Given the description of an element on the screen output the (x, y) to click on. 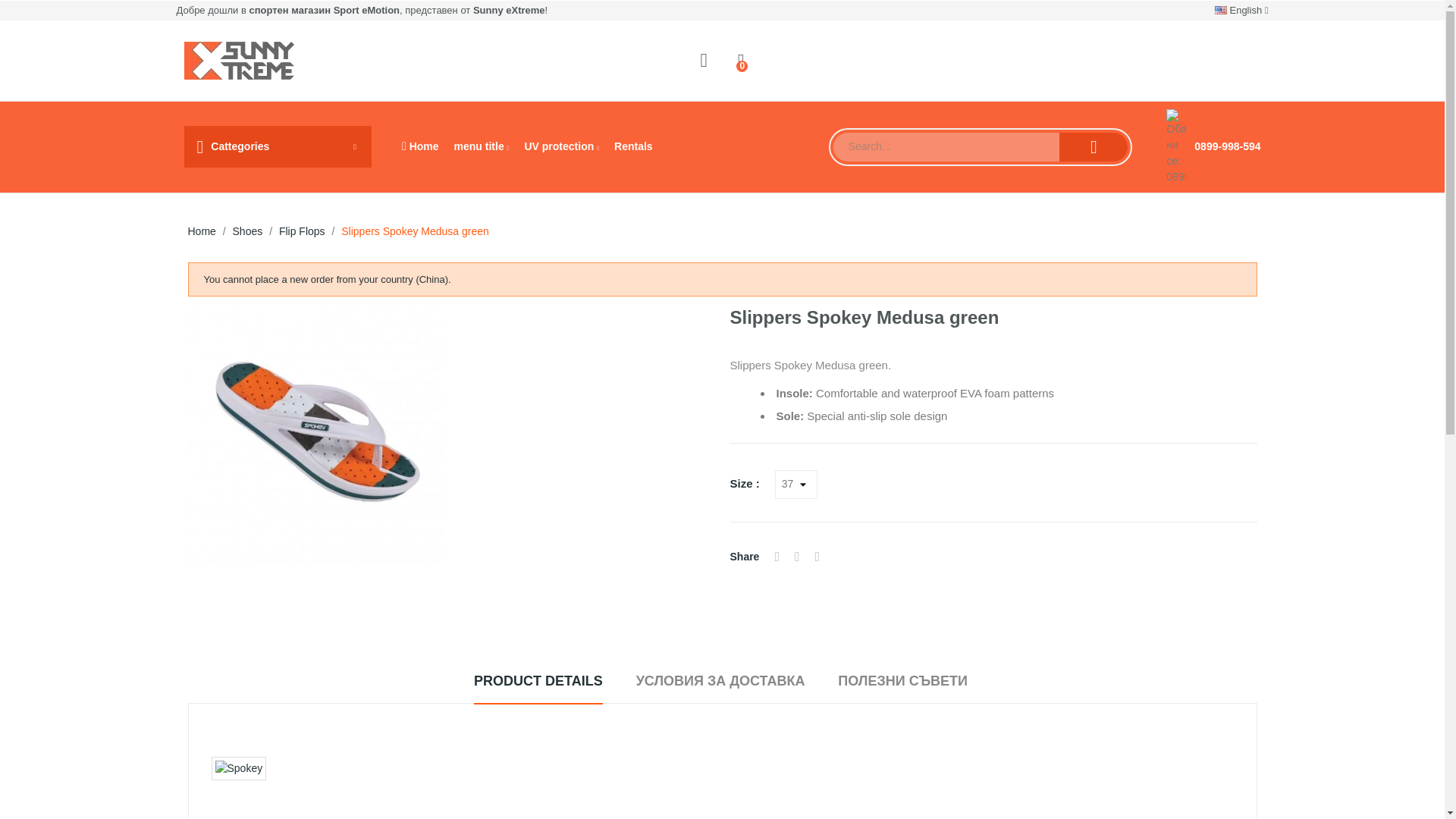
Pinterest (818, 555)
Tweet (797, 555)
Slippers Spokey Medusa green - 1 (315, 436)
Share (777, 555)
search button (1092, 145)
